Given the description of an element on the screen output the (x, y) to click on. 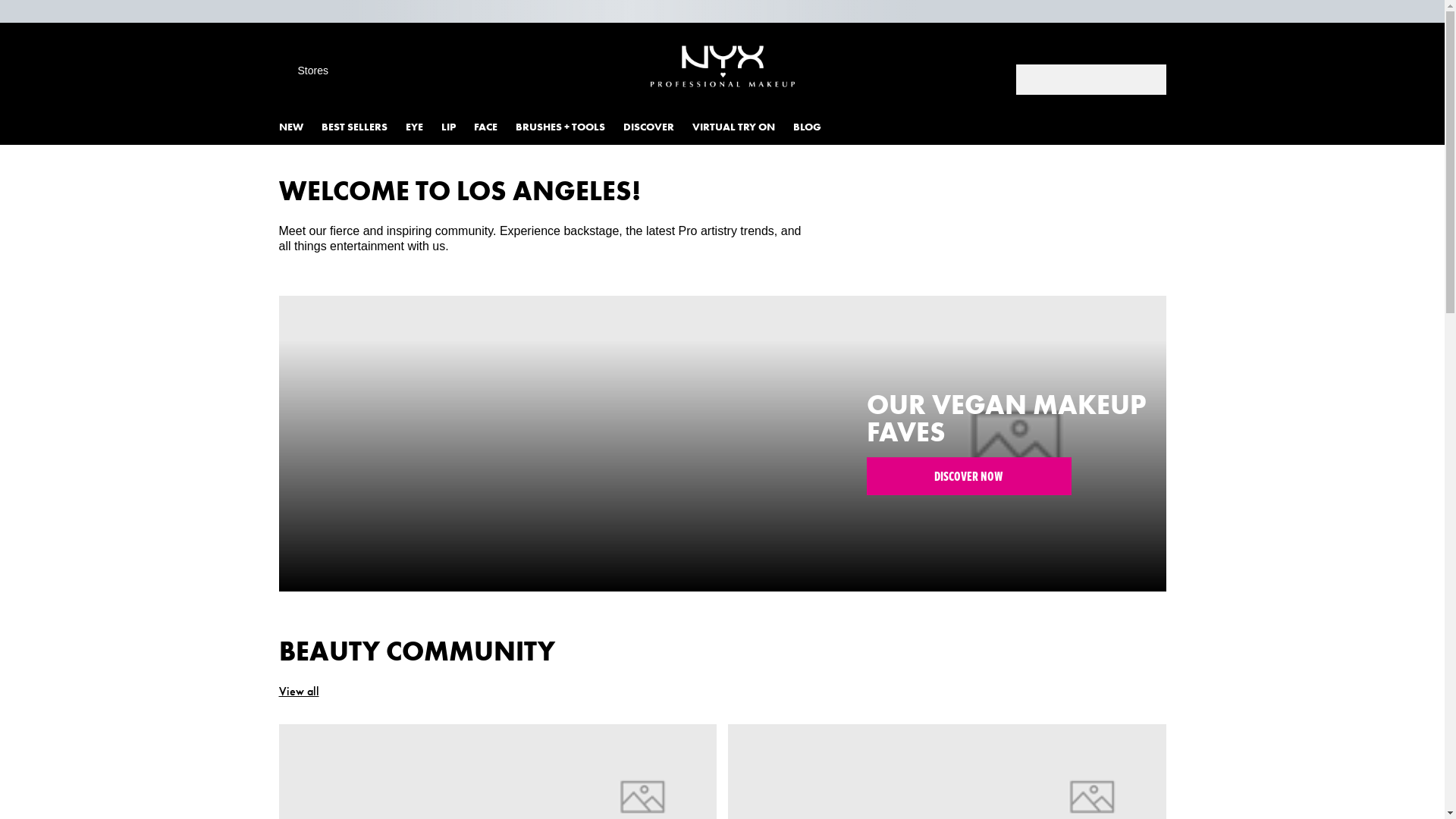
View all Element type: text (299, 690)
FACE Element type: text (493, 126)
LIP Element type: text (457, 126)
Search Element type: text (1143, 81)
VIRTUAL TRY ON Element type: text (741, 126)
DISCOVER NOW Element type: text (968, 476)
BLOG Element type: text (816, 126)
Stores Element type: text (303, 70)
NEW Element type: text (300, 126)
BRUSHES + TOOLS Element type: text (569, 126)
BEST SELLERS Element type: text (363, 126)
EYE Element type: text (422, 126)
DISCOVER Element type: text (657, 126)
